Given the description of an element on the screen output the (x, y) to click on. 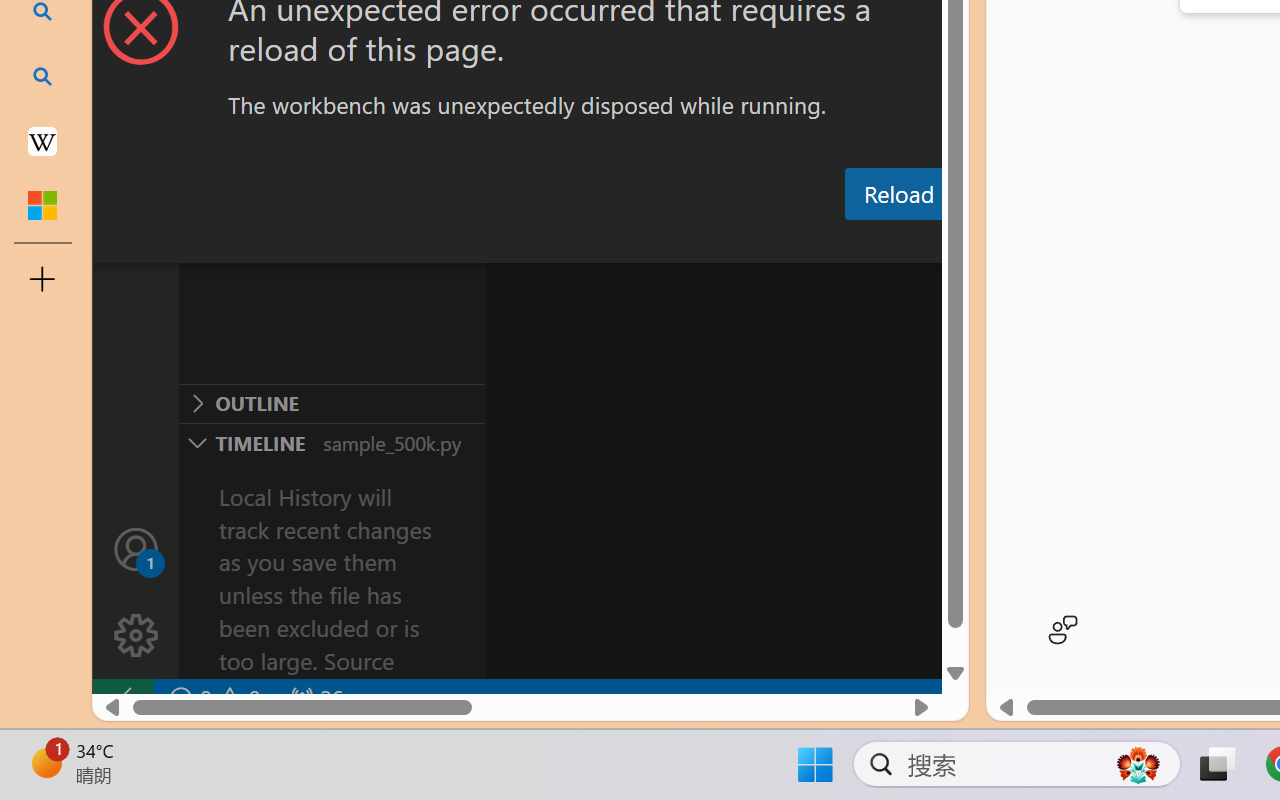
Manage (135, 591)
Timeline Section (331, 442)
Manage (135, 635)
Outline Section (331, 403)
Debug Console (Ctrl+Shift+Y) (854, 243)
Problems (Ctrl+Shift+M) (567, 243)
No Problems (212, 698)
Reload (898, 193)
Terminal (Ctrl+`) (1021, 243)
